Given the description of an element on the screen output the (x, y) to click on. 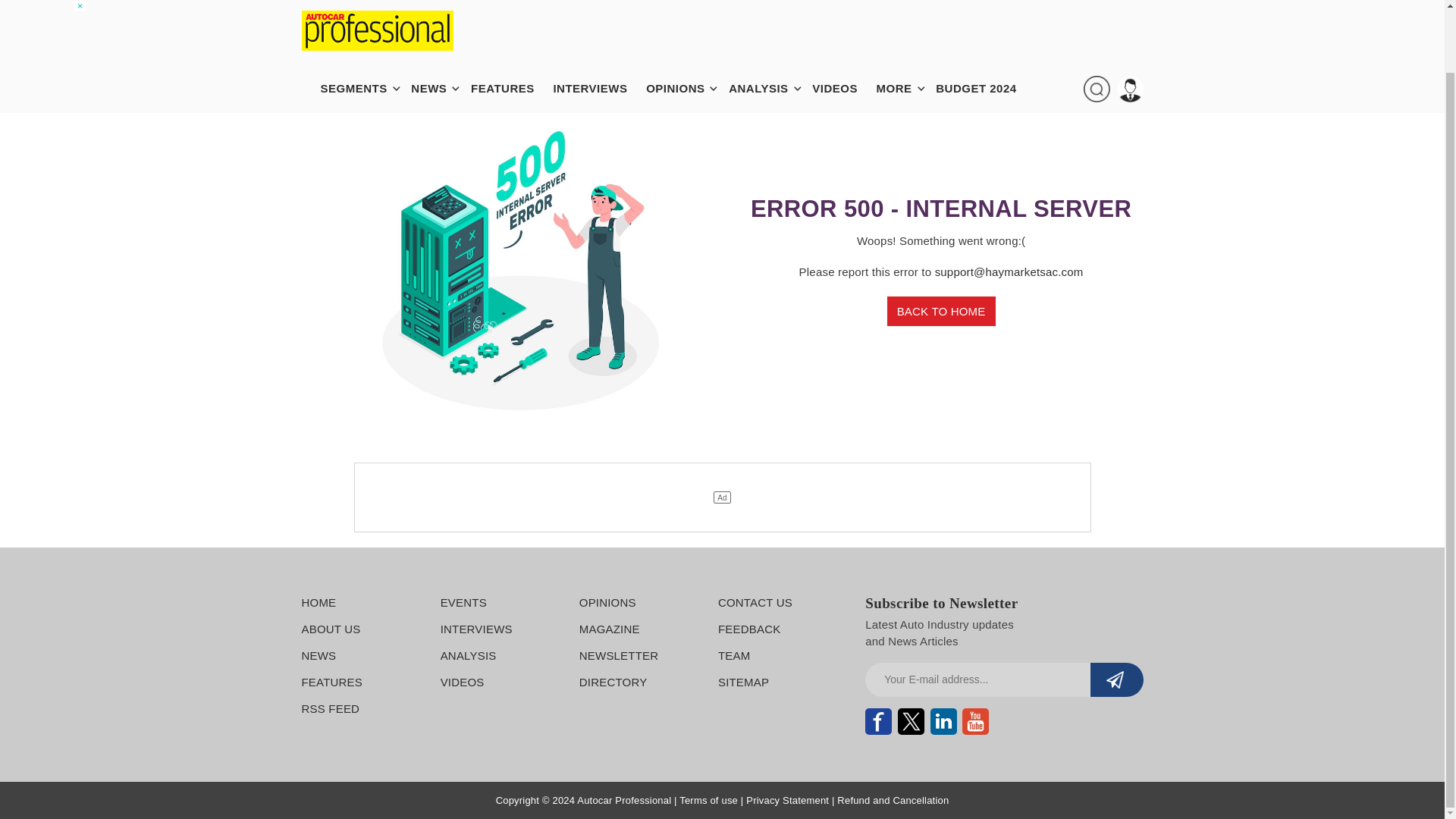
BUDGET 2024 (983, 20)
OPINIONS (682, 20)
MORE (901, 20)
ANALYSIS (765, 20)
SEGMENTS (361, 20)
VIDEOS (842, 20)
FEATURES (510, 20)
INTERVIEWS (596, 20)
NEWS (435, 20)
